Given the description of an element on the screen output the (x, y) to click on. 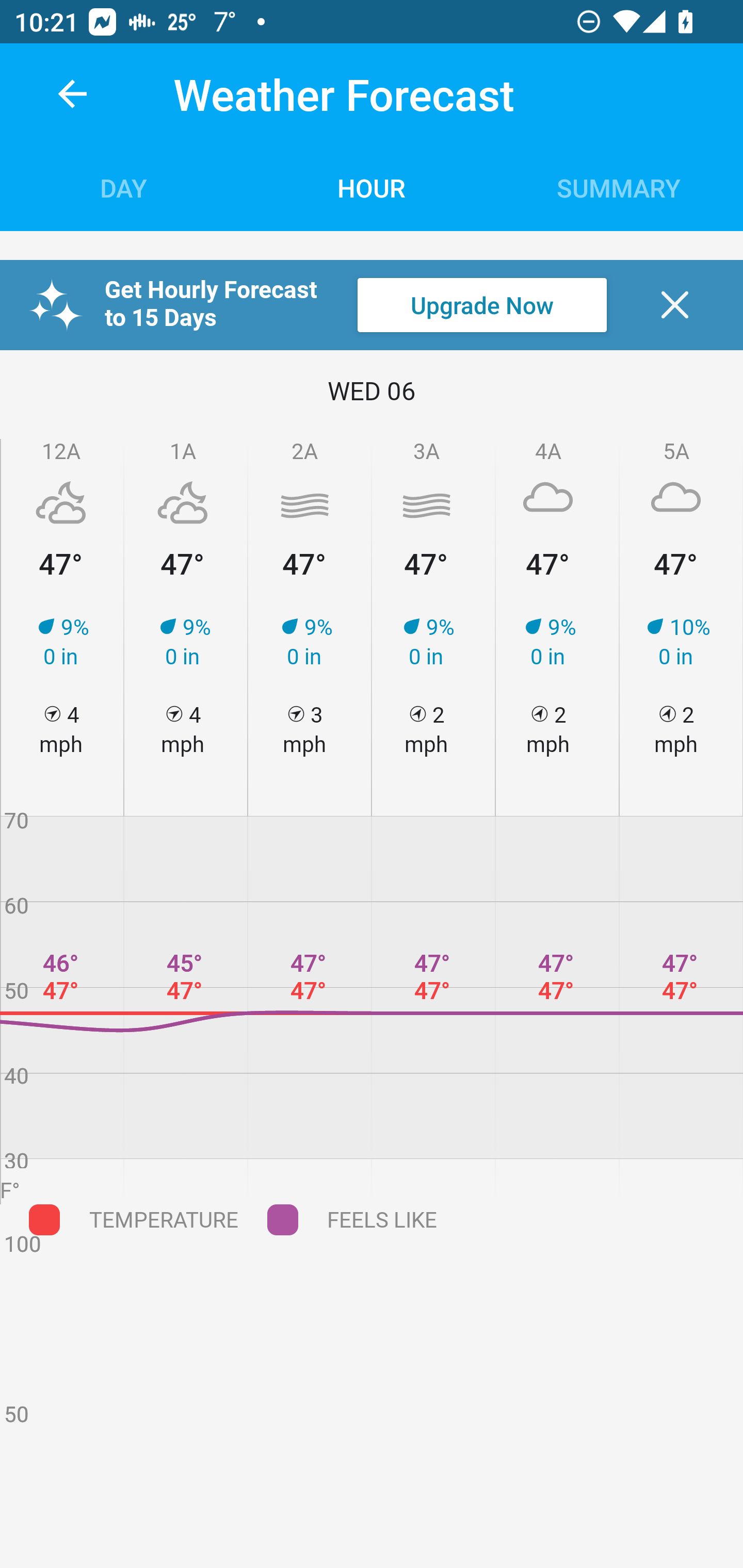
back (71, 93)
Day Tab DAY (123, 187)
Summary Tab SUMMARY (619, 187)
Upgrade Now (482, 304)
